Given the description of an element on the screen output the (x, y) to click on. 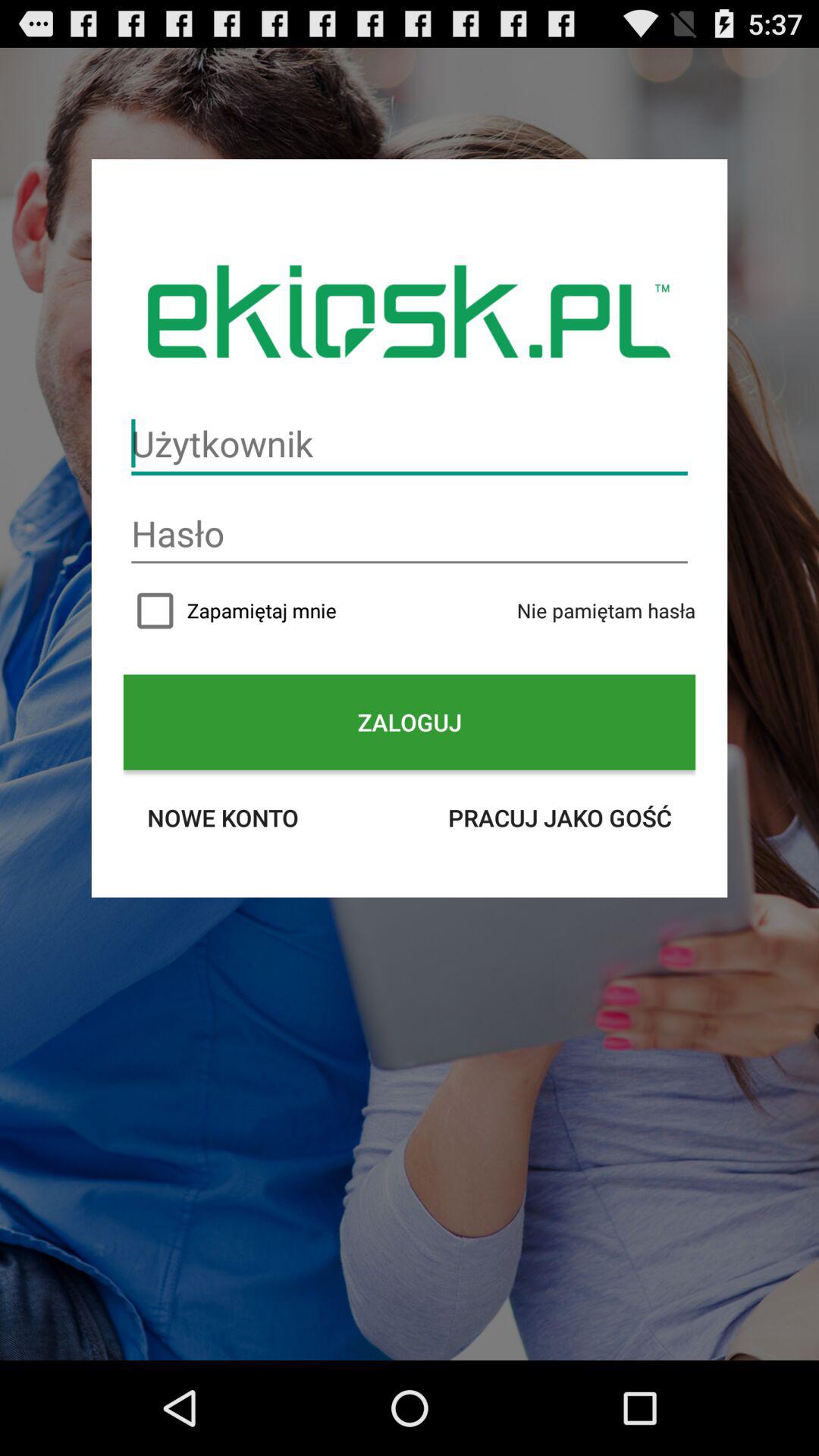
enter password (409, 533)
